Given the description of an element on the screen output the (x, y) to click on. 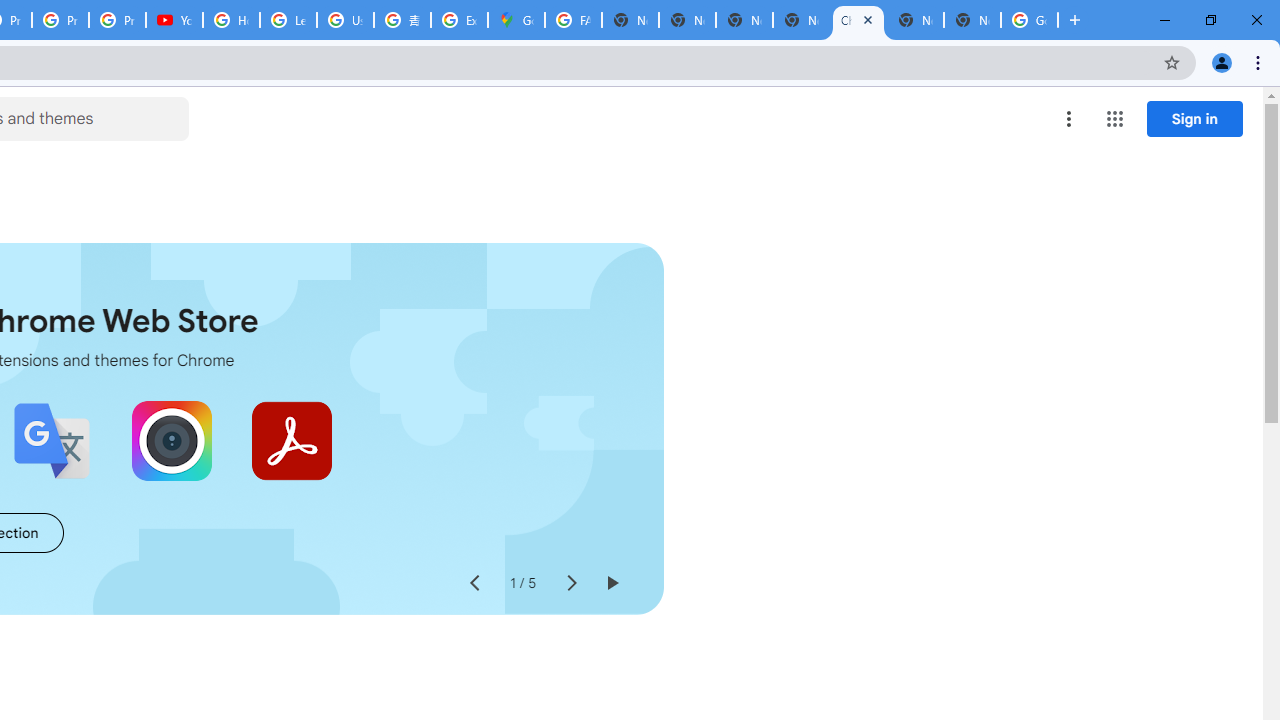
New Tab (971, 20)
How Chrome protects your passwords - Google Chrome Help (231, 20)
Google Maps (516, 20)
Next slide (570, 583)
Privacy Checkup (60, 20)
Resume auto-play (611, 583)
YouTube (174, 20)
